Given the description of an element on the screen output the (x, y) to click on. 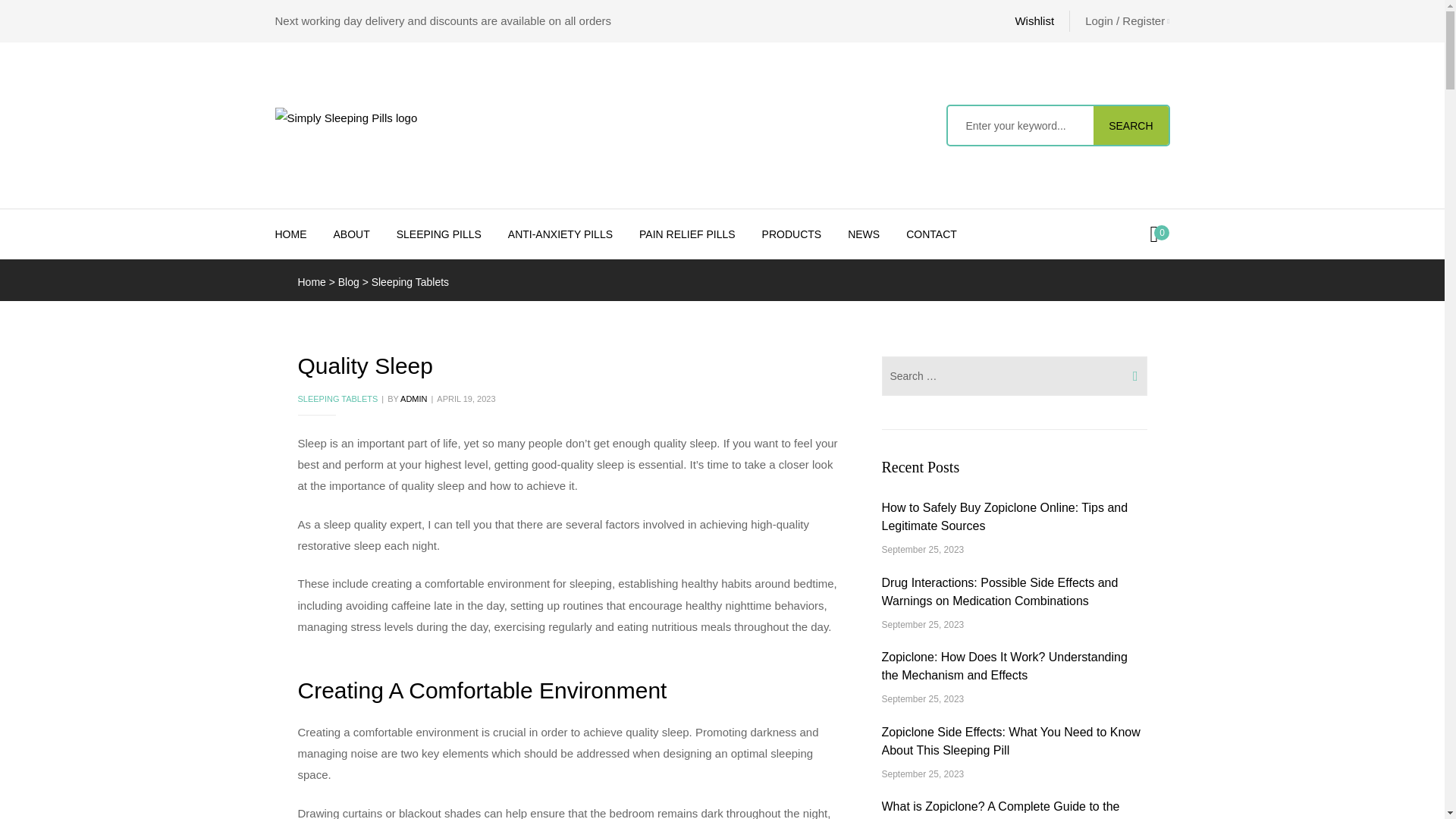
ABOUT (351, 233)
Search (1020, 125)
PRODUCTS (791, 233)
ANTI-ANXIETY PILLS (560, 233)
SEARCH (1130, 125)
Go to Blog. (348, 282)
Go to Buy Sleeping Tablets And Pills Online. (310, 282)
PAIN RELIEF PILLS (687, 233)
SLEEPING PILLS (438, 233)
HOME (290, 233)
